Given the description of an element on the screen output the (x, y) to click on. 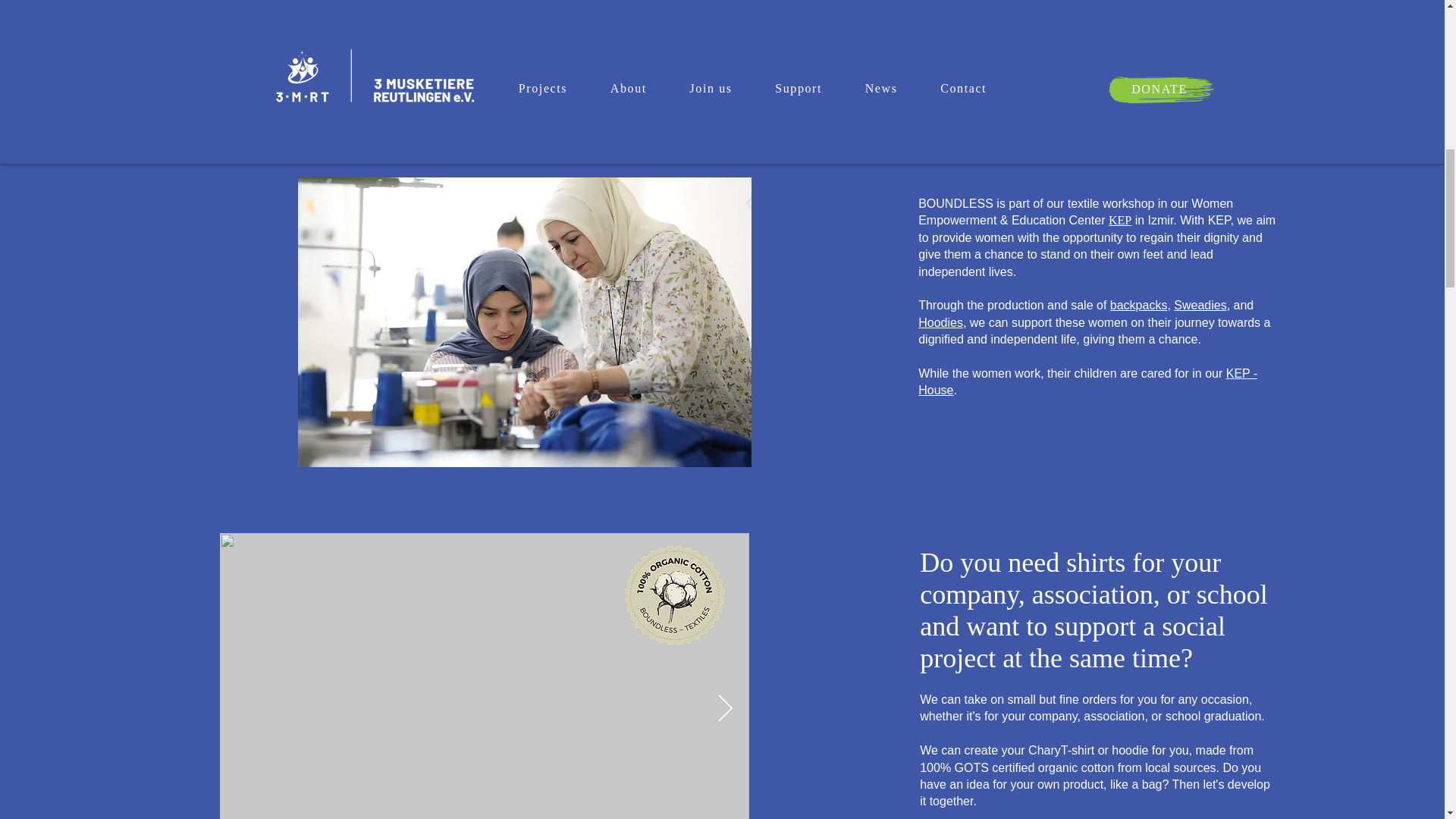
backpacks (1138, 305)
KEP (1119, 219)
Hoodies (940, 322)
KEP - House (1087, 381)
Sweadies (1199, 305)
Shop (973, 72)
